Given the description of an element on the screen output the (x, y) to click on. 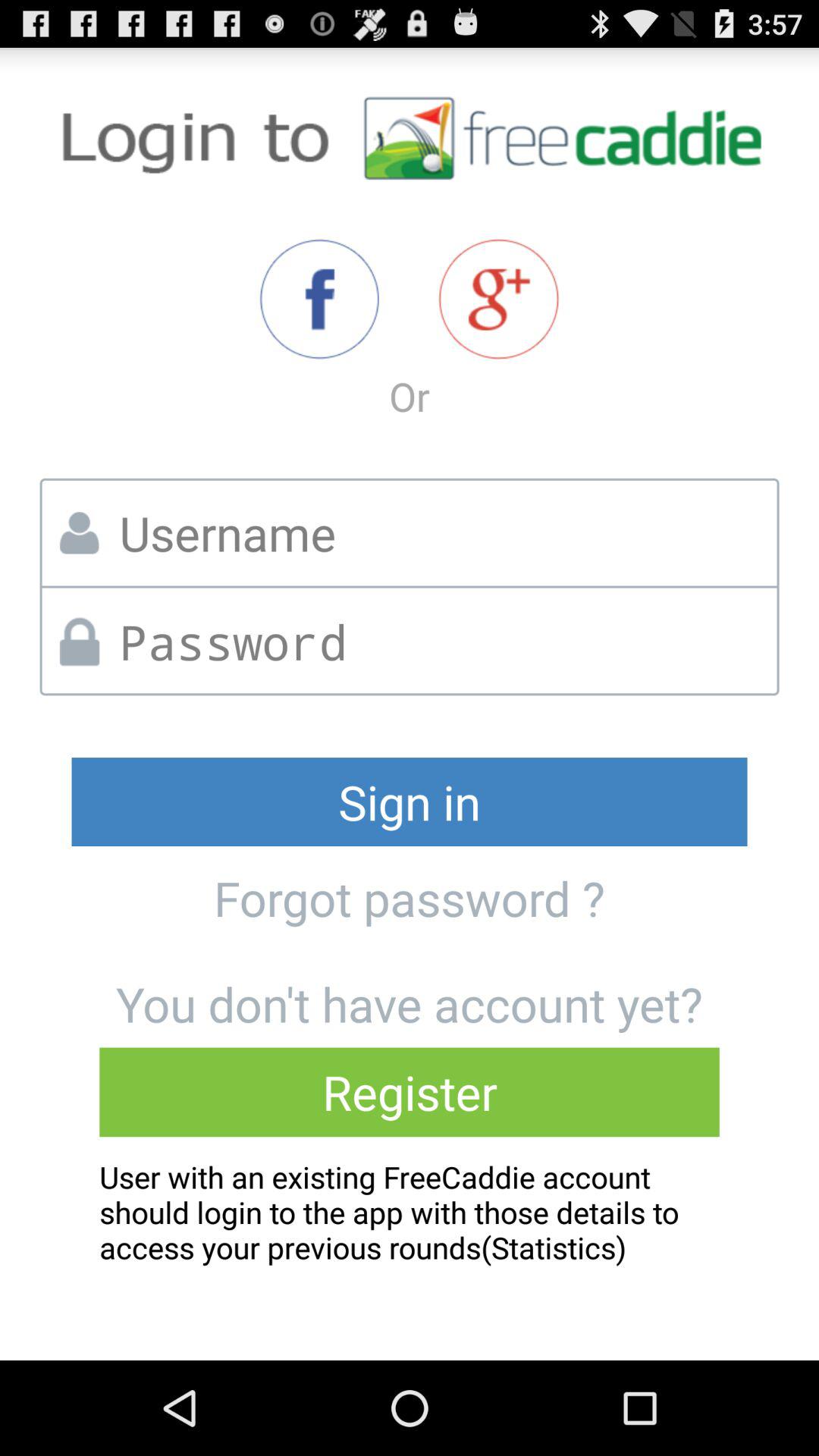
turn off icon above forgot password ? item (409, 801)
